Given the description of an element on the screen output the (x, y) to click on. 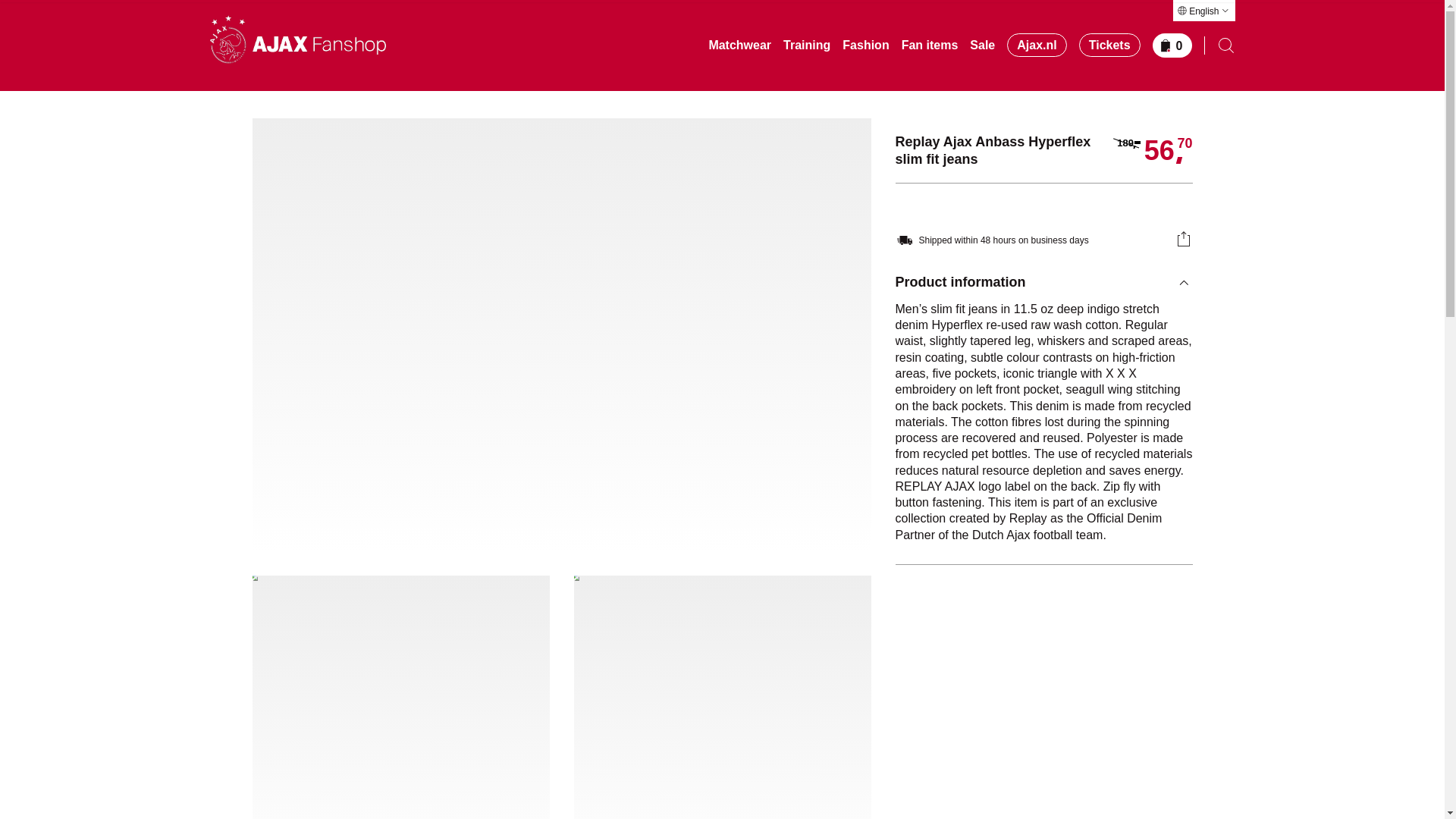
Share (1182, 239)
